Given the description of an element on the screen output the (x, y) to click on. 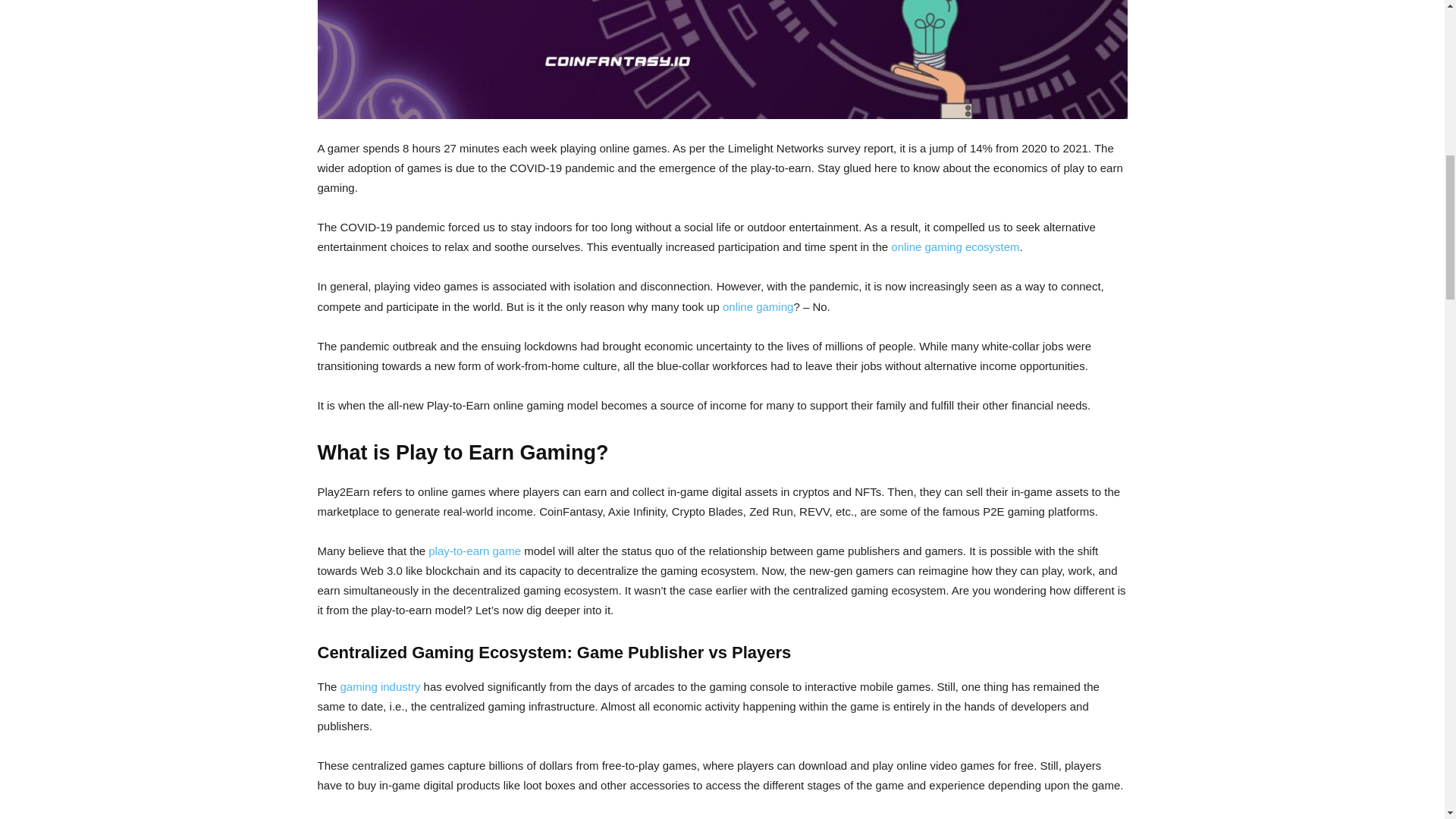
P2E games employment and economy (721, 59)
